Given the description of an element on the screen output the (x, y) to click on. 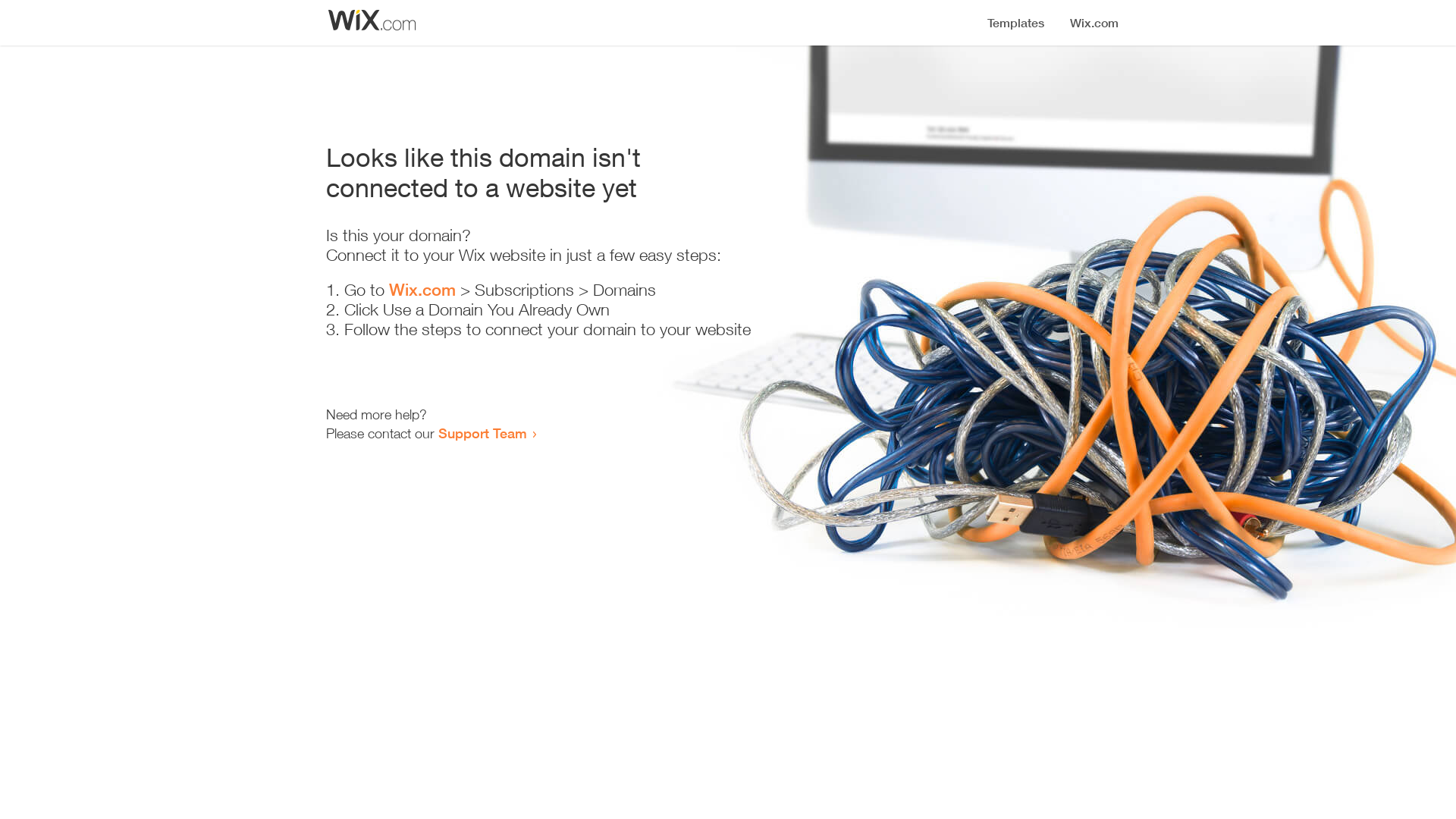
Wix.com Element type: text (422, 289)
Support Team Element type: text (482, 432)
